Given the description of an element on the screen output the (x, y) to click on. 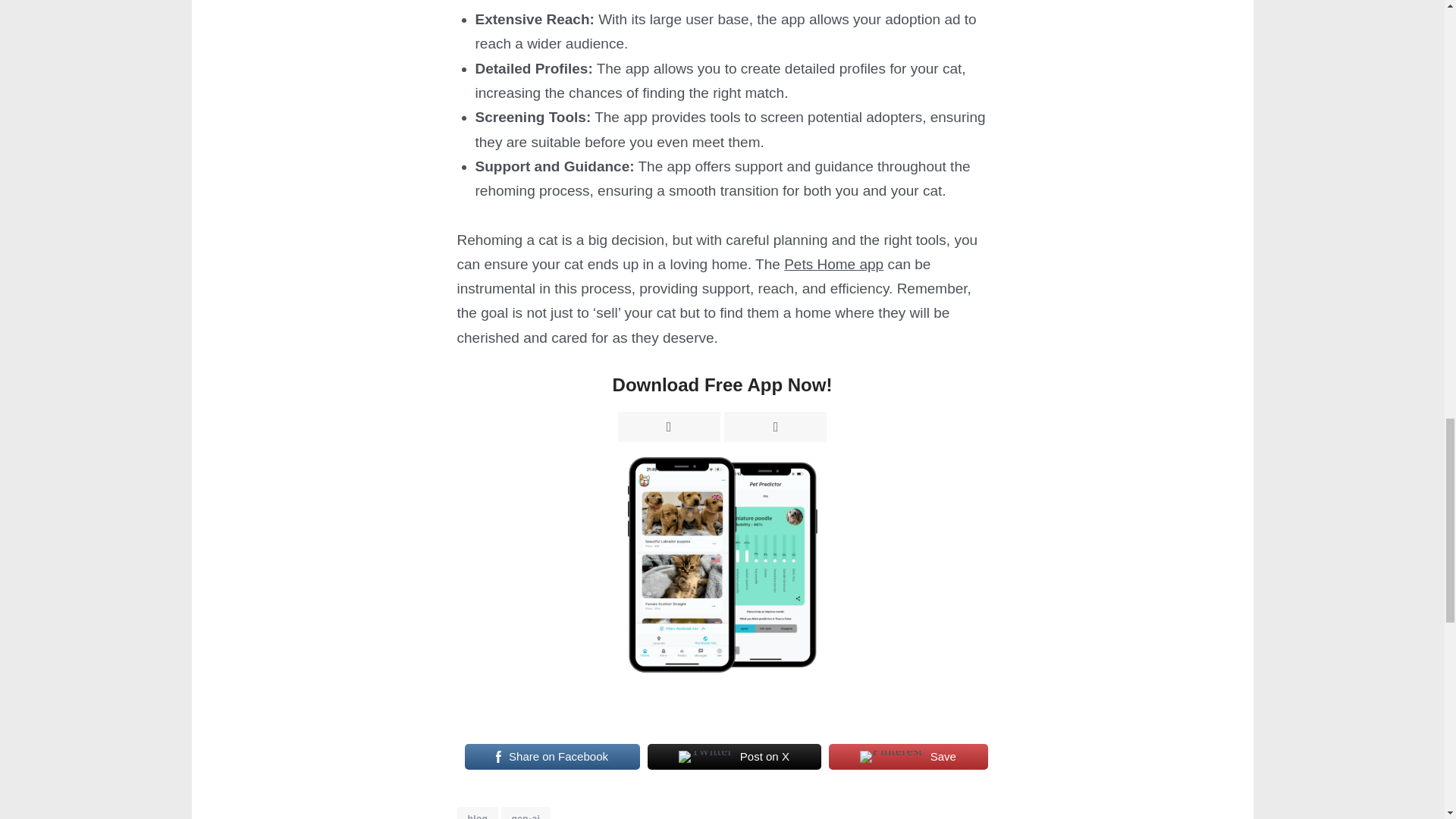
Save (908, 756)
Post on X (734, 756)
gen-ai (525, 812)
Share on Facebook (551, 756)
blog (477, 812)
Pets Home app (833, 263)
